Given the description of an element on the screen output the (x, y) to click on. 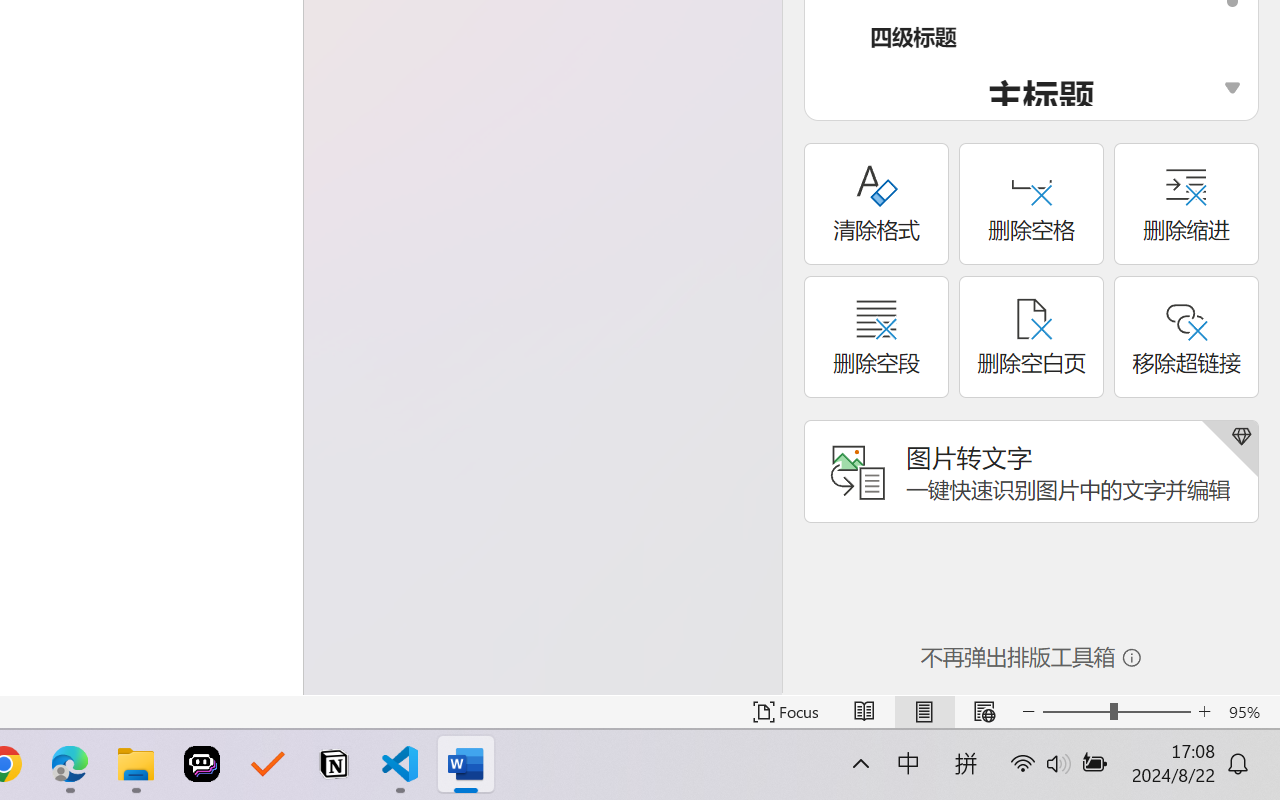
Pictures (91, 68)
Zoom 50% (1236, 743)
Record button in top bar (1049, 334)
Record your presentations screenshot one (1052, 526)
Insert Video (91, 108)
Action Center, 1 new notification (1250, 777)
